Given the description of an element on the screen output the (x, y) to click on. 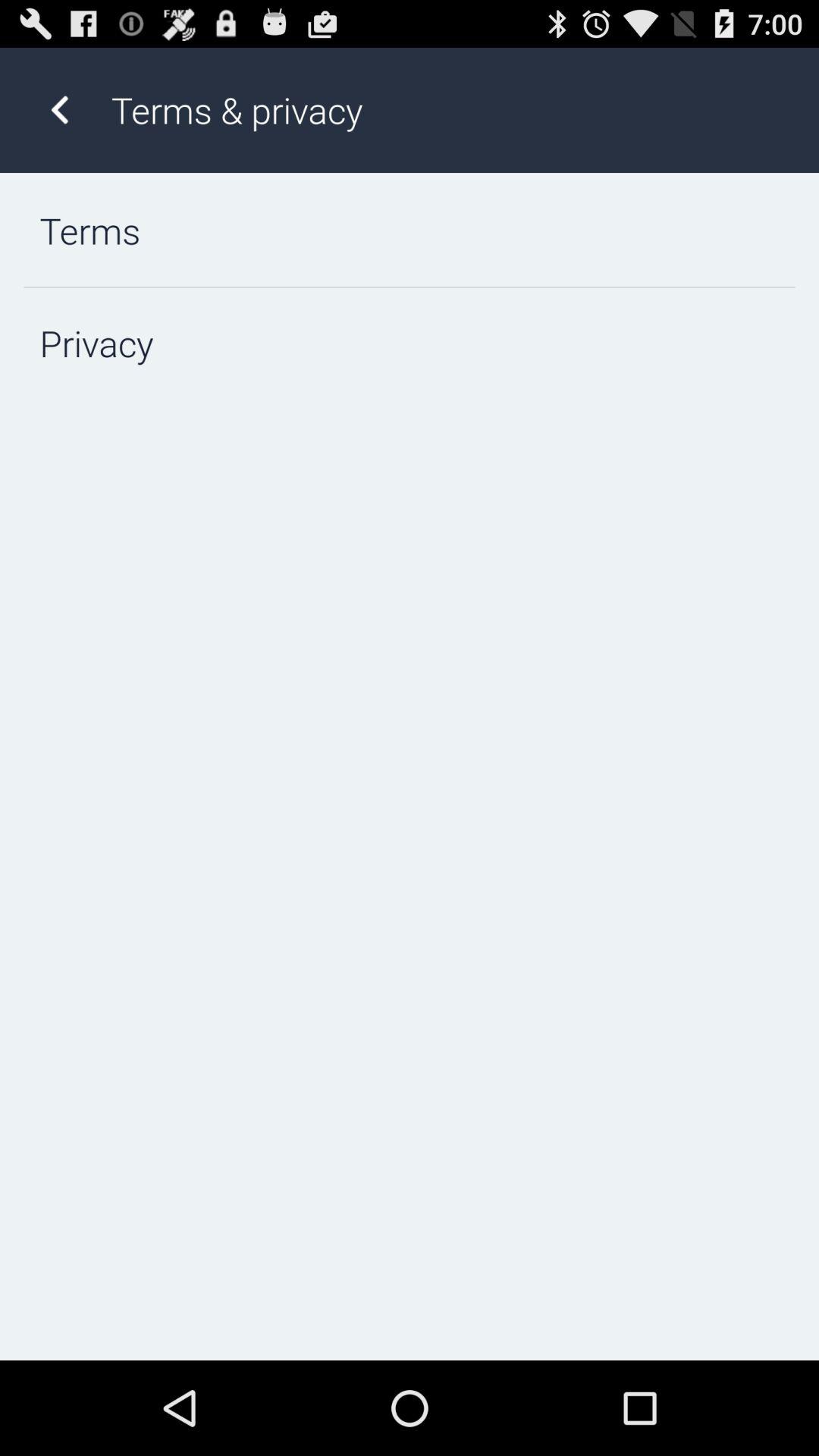
turn off icon at the top left corner (59, 109)
